Given the description of an element on the screen output the (x, y) to click on. 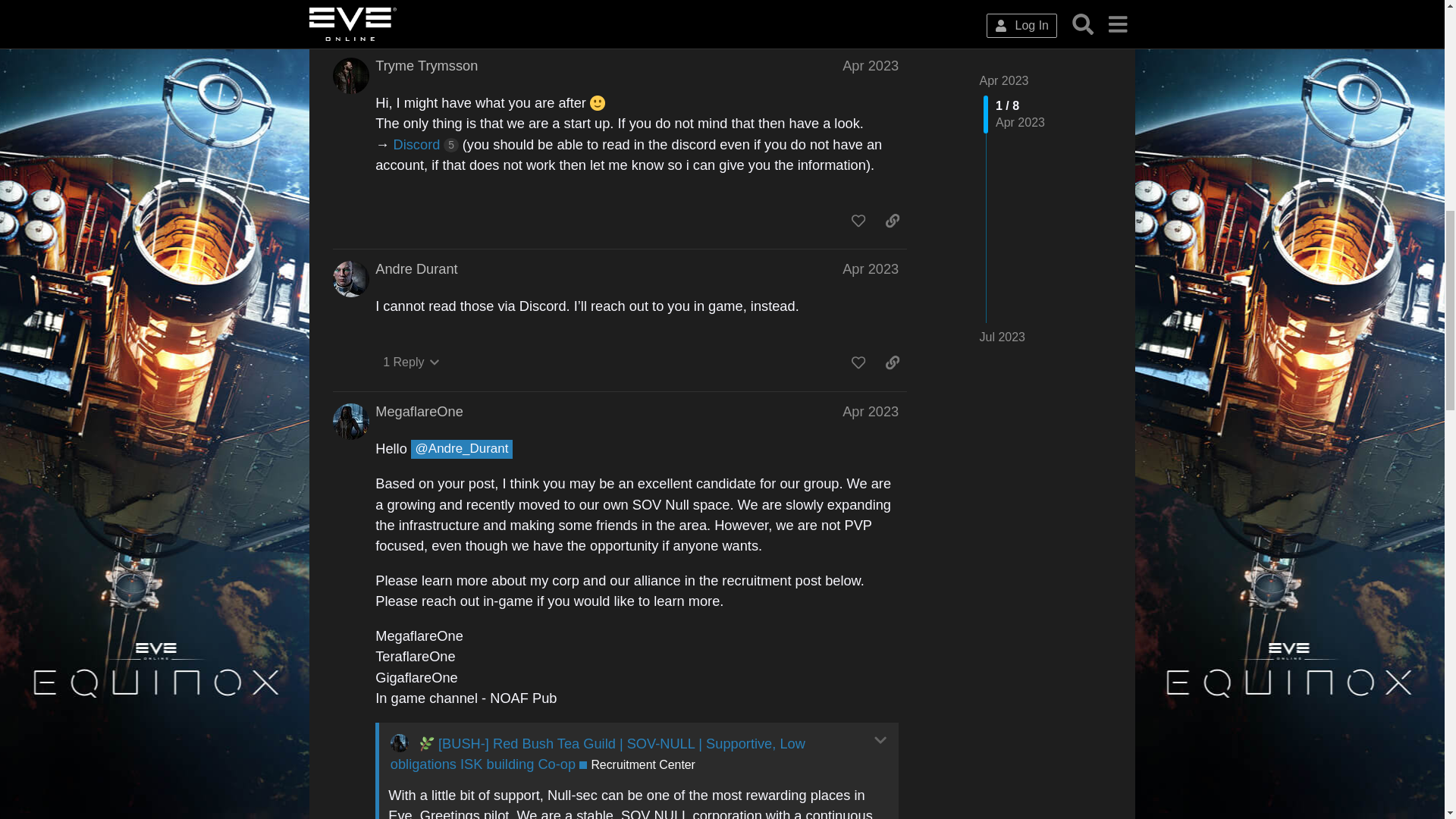
Andre Durant (391, 6)
Apr 2023 (870, 269)
1 Reply (410, 361)
2 (795, 4)
2 (764, 4)
Tryme Trymsson (426, 66)
Andre Durant (416, 269)
Apr 2023 (870, 65)
Apr 16, 2023 9:16 am (432, 5)
Discord 5 (425, 144)
expand topic details (881, 9)
